Given the description of an element on the screen output the (x, y) to click on. 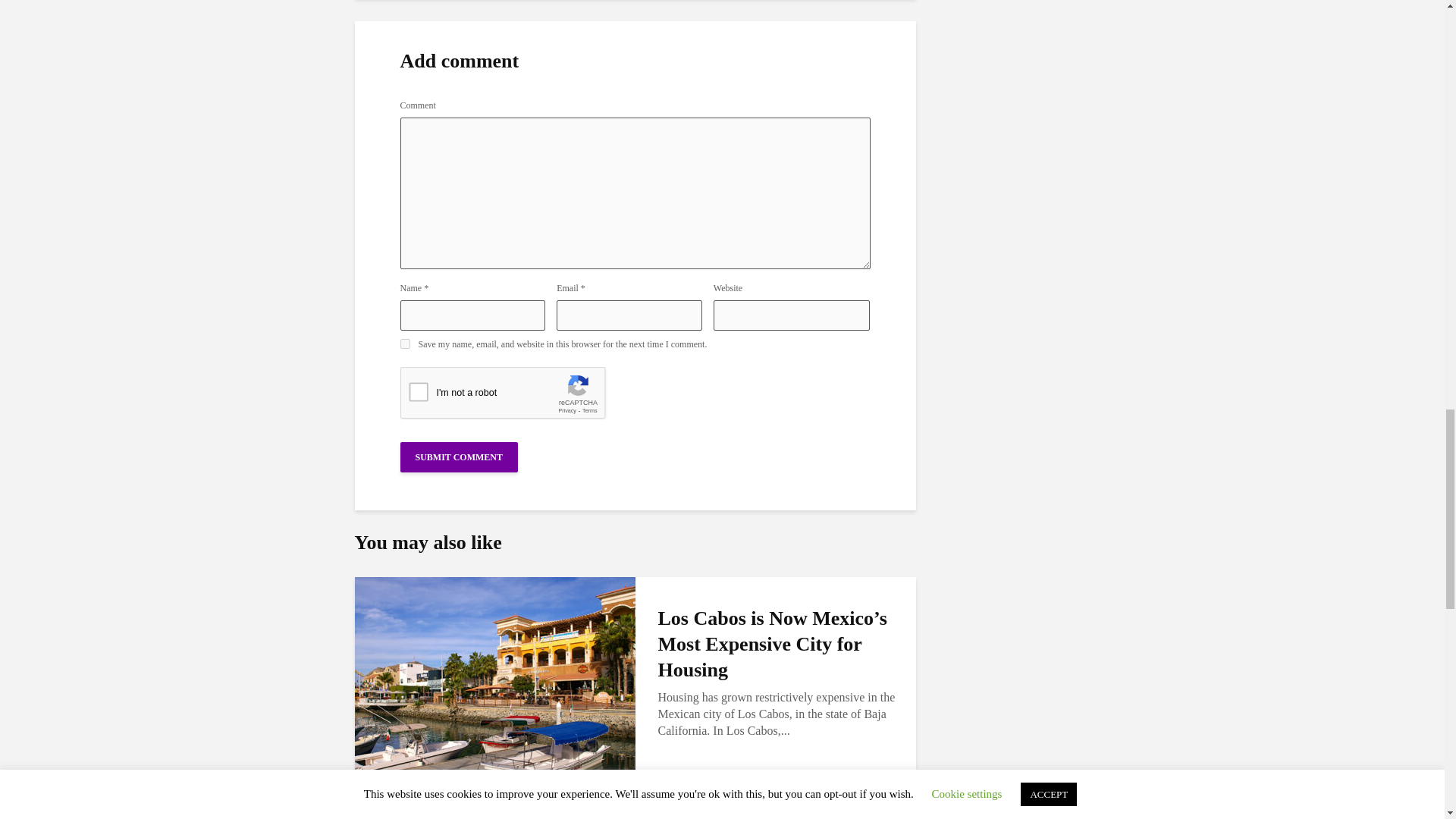
reCAPTCHA (515, 395)
Submit Comment (459, 457)
yes (405, 343)
Submit Comment (459, 457)
